Given the description of an element on the screen output the (x, y) to click on. 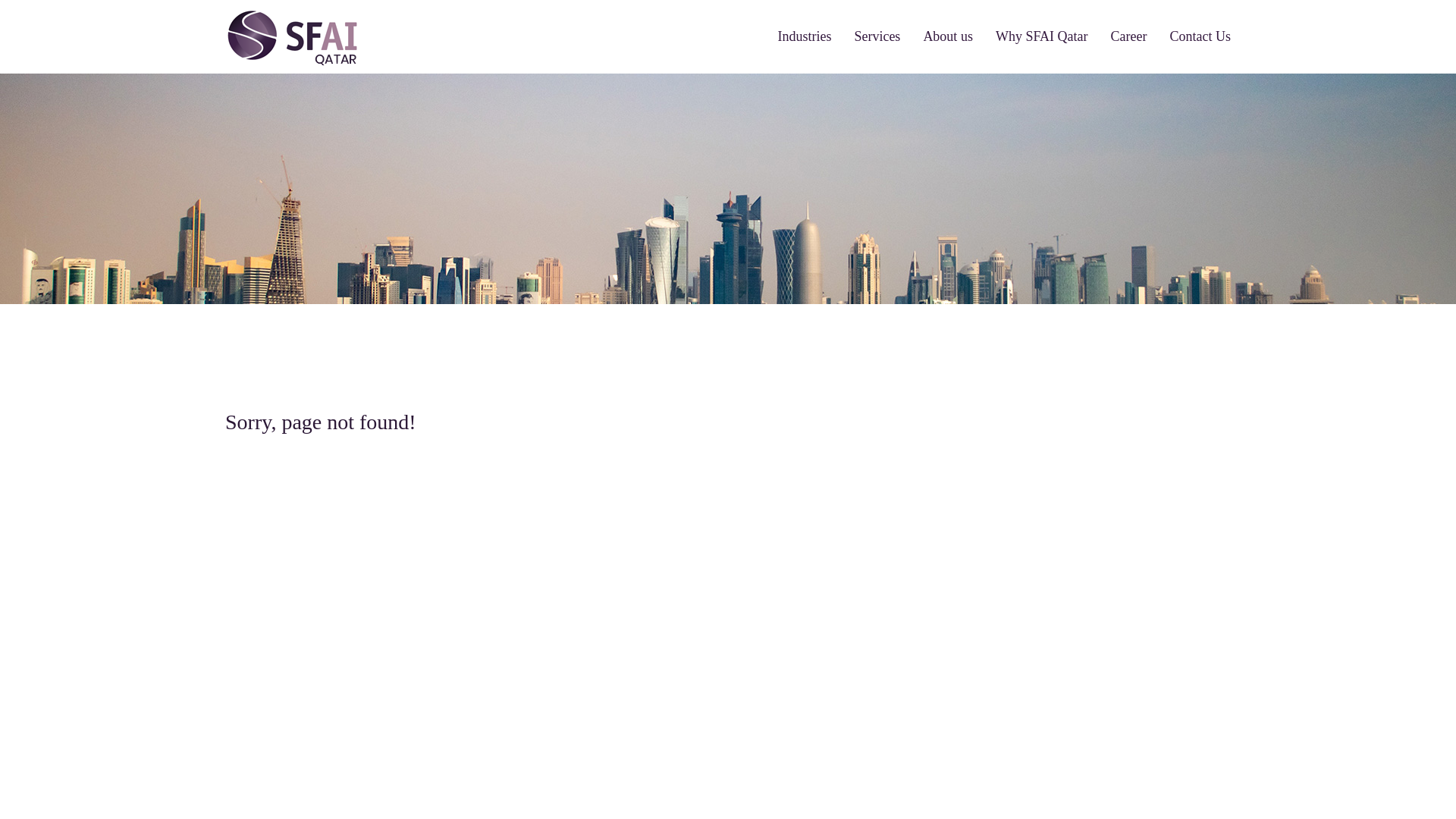
Industries (804, 36)
About us (947, 36)
Contact Us (1199, 36)
Why SFAI Qatar (1041, 36)
Services (876, 36)
Career (1128, 36)
